Given the description of an element on the screen output the (x, y) to click on. 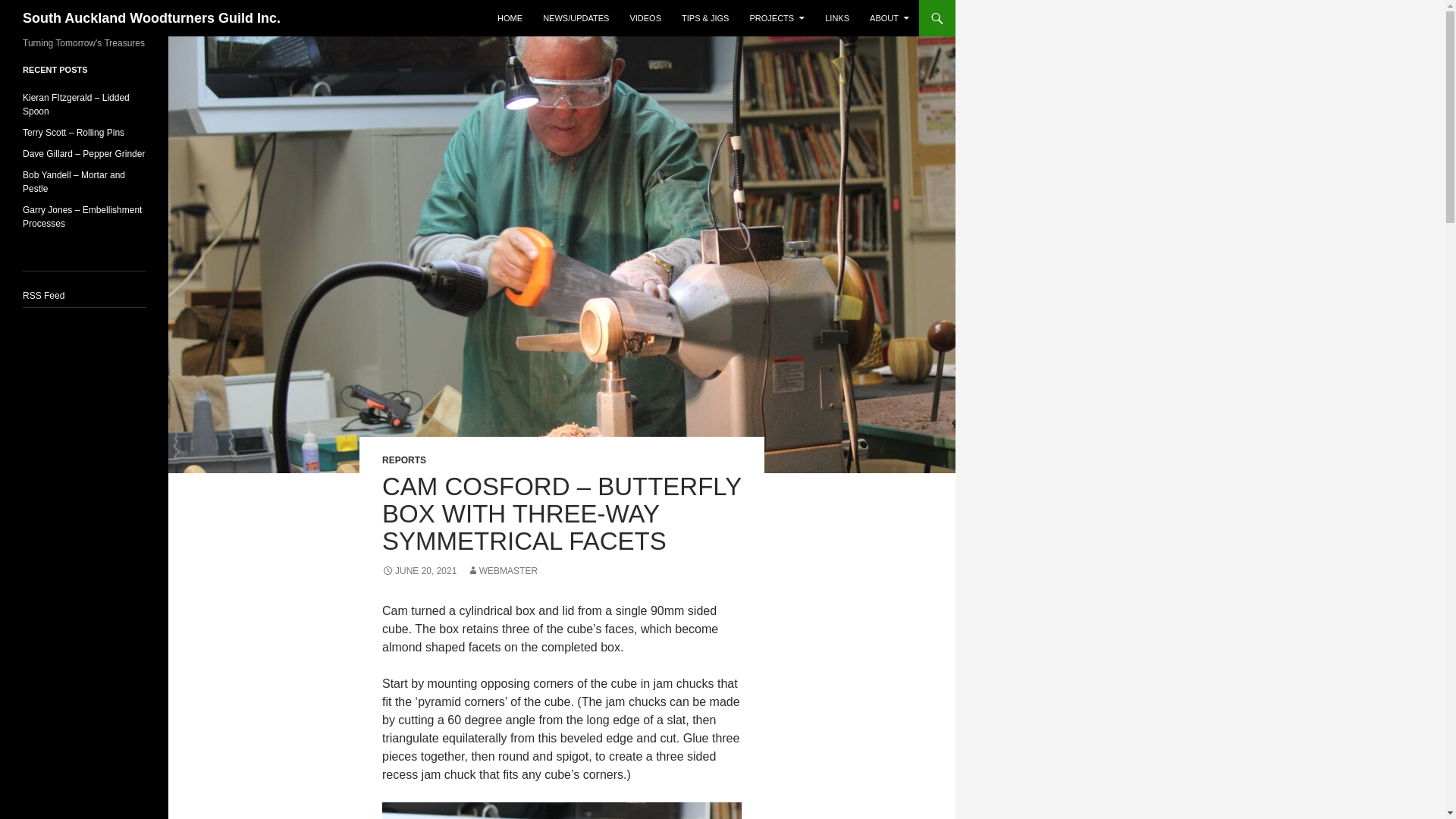
ABOUT (889, 18)
LINKS (837, 18)
HOME (509, 18)
REPORTS (403, 460)
PROJECTS (776, 18)
JUNE 20, 2021 (419, 570)
South Auckland Woodturners Guild Inc. (152, 18)
VIDEOS (644, 18)
WEBMASTER (502, 570)
